Given the description of an element on the screen output the (x, y) to click on. 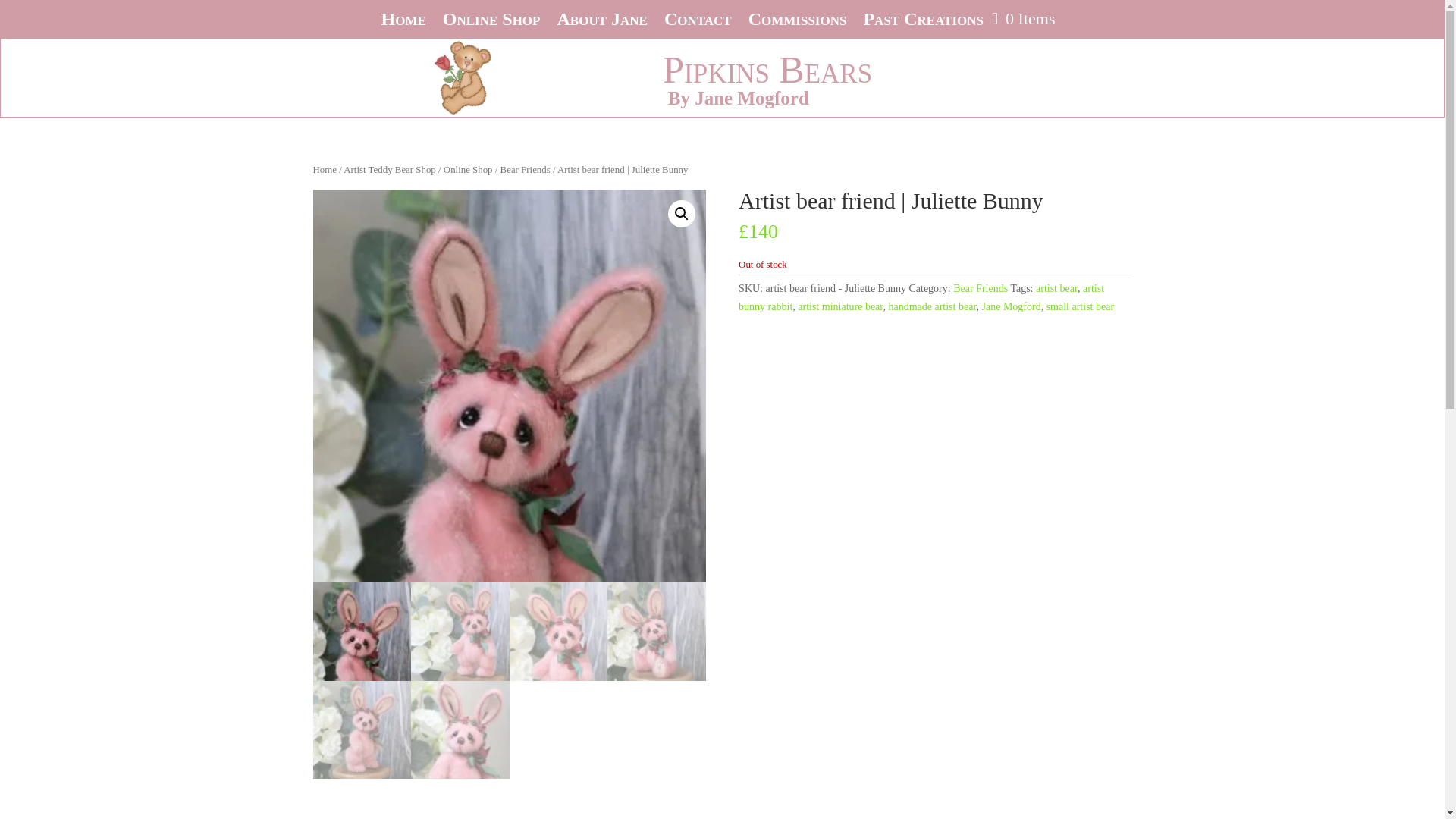
Contact (697, 21)
Commissions (797, 21)
handmade artist bear (931, 306)
Artist Teddy Bear Shop (389, 169)
artist bunny rabbit (920, 297)
Online Shop (491, 21)
Jane Mogford (1011, 306)
0 Items (1022, 18)
Pipkins Bears Online Shop (491, 21)
About Jane (601, 21)
